Given the description of an element on the screen output the (x, y) to click on. 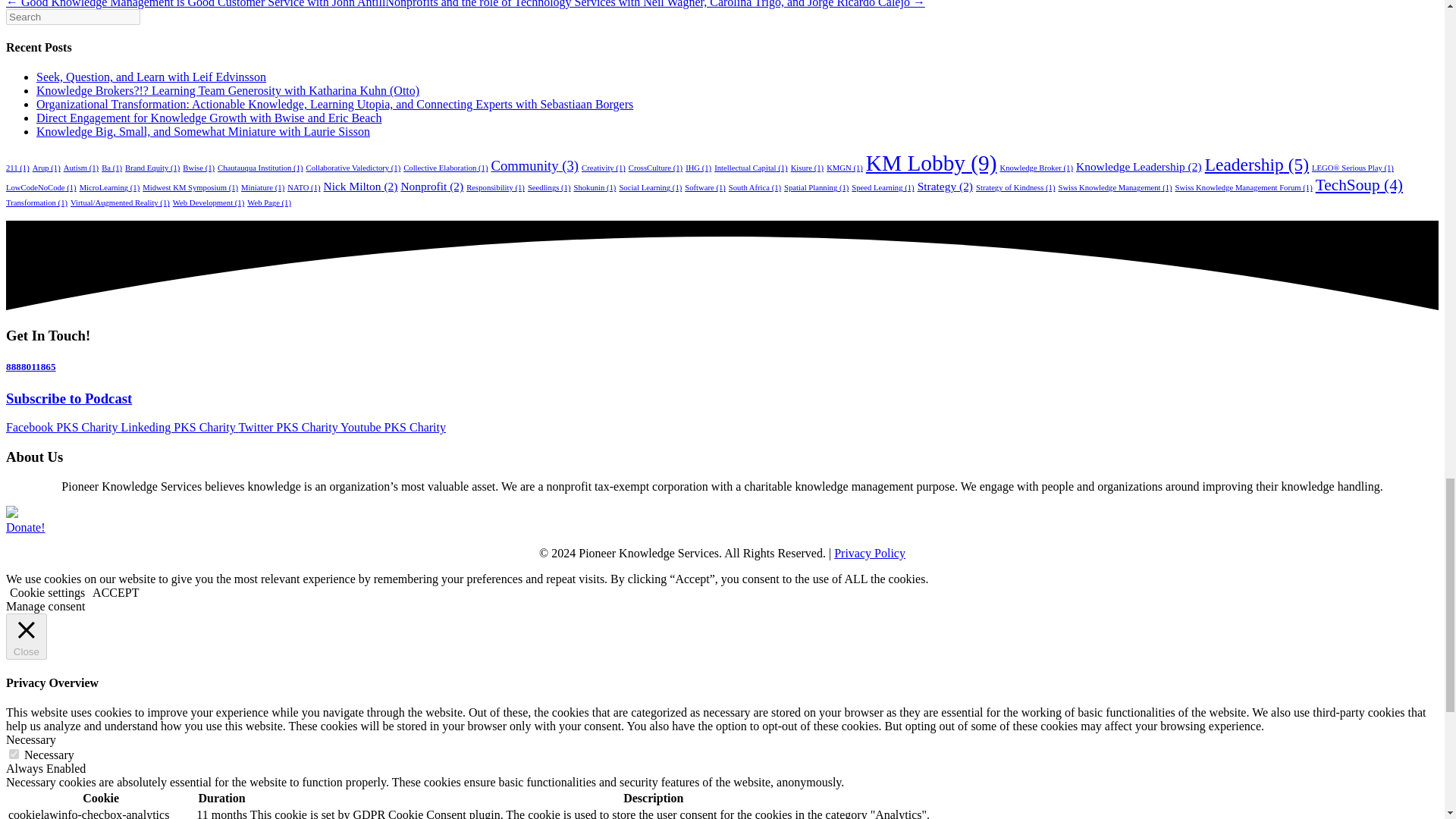
Seek, Question, and Learn with Leif Edvinsson (151, 76)
on (13, 754)
